Given the description of an element on the screen output the (x, y) to click on. 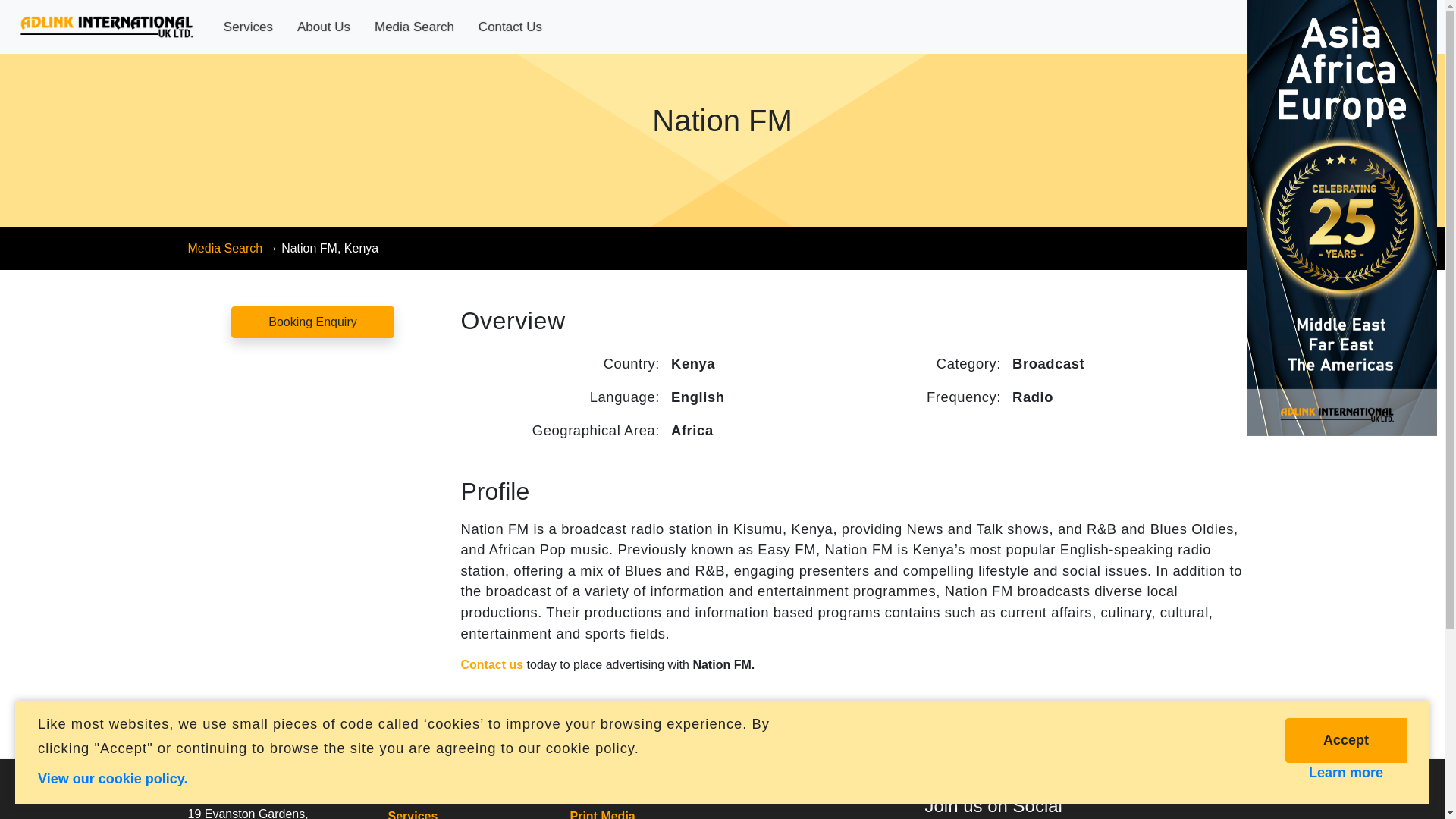
Accept (1345, 739)
Booking Enquiry (312, 322)
Opens Print Media Page (602, 814)
Services (413, 814)
Opens Services Page (413, 814)
Contact us (492, 664)
About Us (323, 27)
Print Media (602, 814)
Contact Us link (492, 664)
Open Cookies Page (112, 777)
Learn more (1345, 771)
Media Search (225, 247)
Contact Us (509, 27)
Media Search (414, 27)
View our cookie policy. (112, 777)
